Given the description of an element on the screen output the (x, y) to click on. 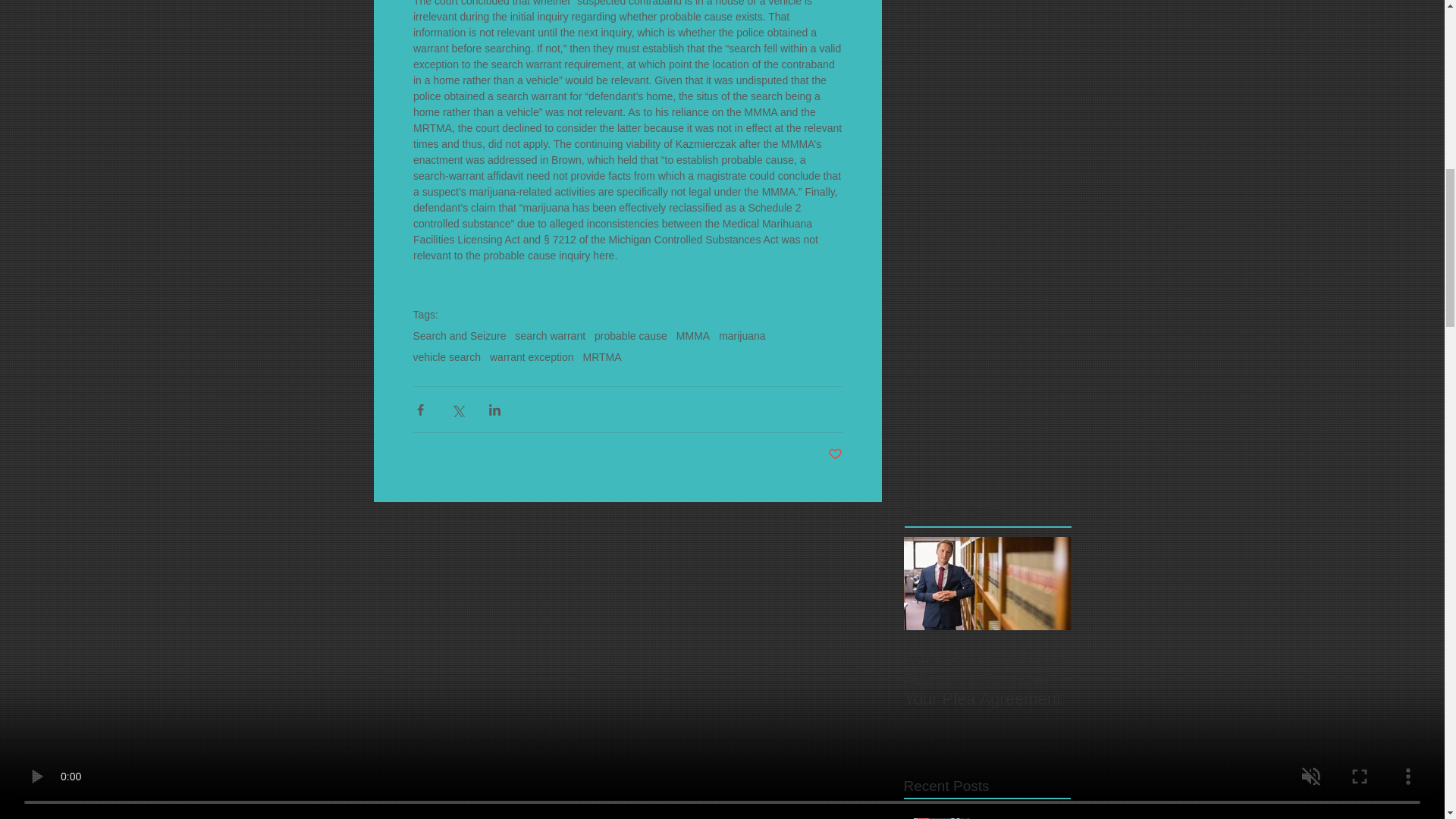
probable cause (630, 336)
marijuana (742, 336)
search warrant (550, 336)
Make Sure You Know ALL of the Terms of Your Plea Agreement (987, 679)
vehicle search (446, 357)
Search and Seizure (458, 336)
MRTMA (602, 357)
MMMA (693, 336)
Court Errs in Granting HYTA Probation (1020, 818)
Post not marked as liked (835, 454)
warrant exception (531, 357)
